Given the description of an element on the screen output the (x, y) to click on. 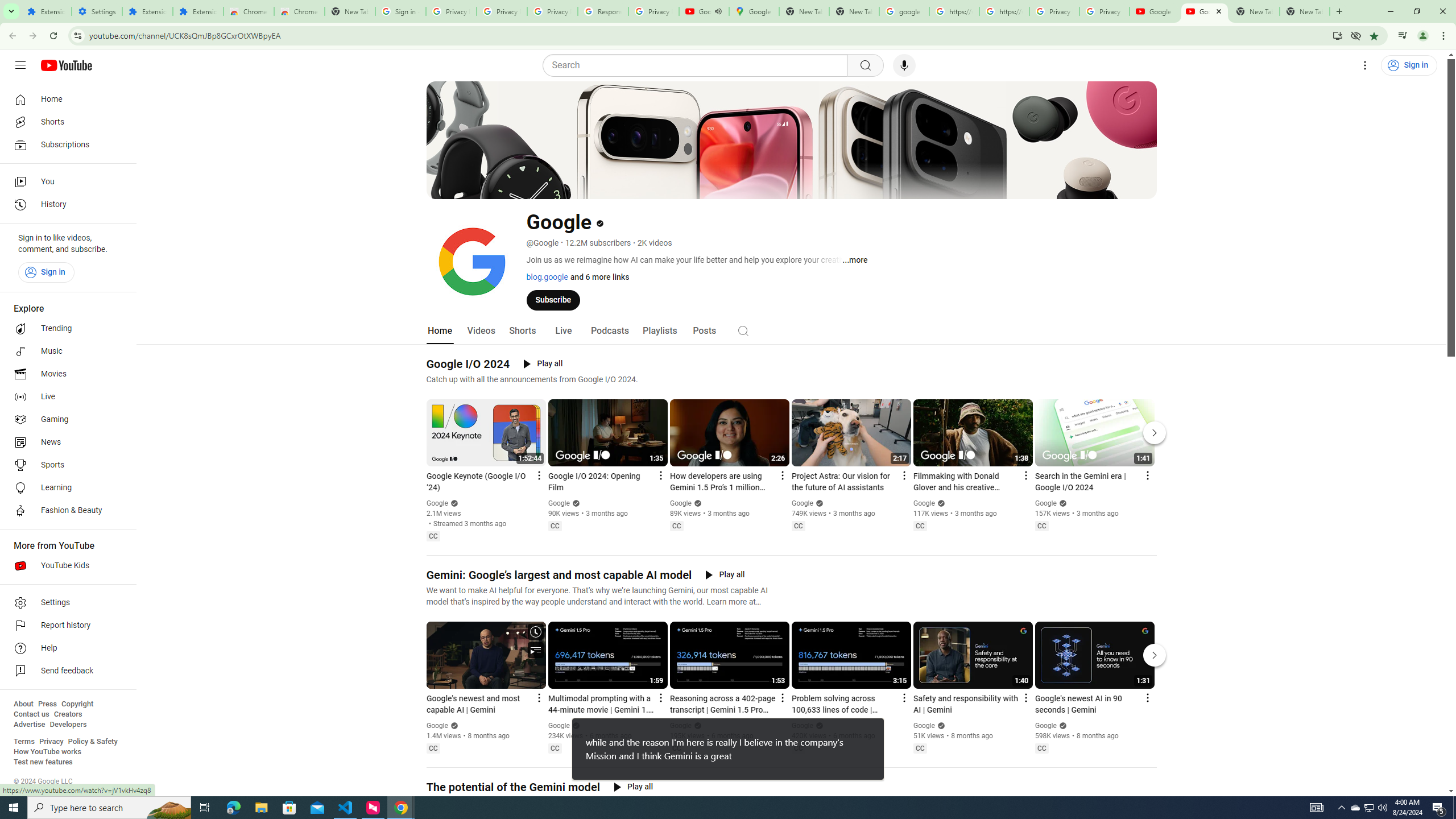
Settings (97, 11)
How YouTube works (47, 751)
Posts (703, 330)
Extensions (197, 11)
Search with your voice (903, 65)
https://scholar.google.com/ (1004, 11)
Videos (481, 330)
